Given the description of an element on the screen output the (x, y) to click on. 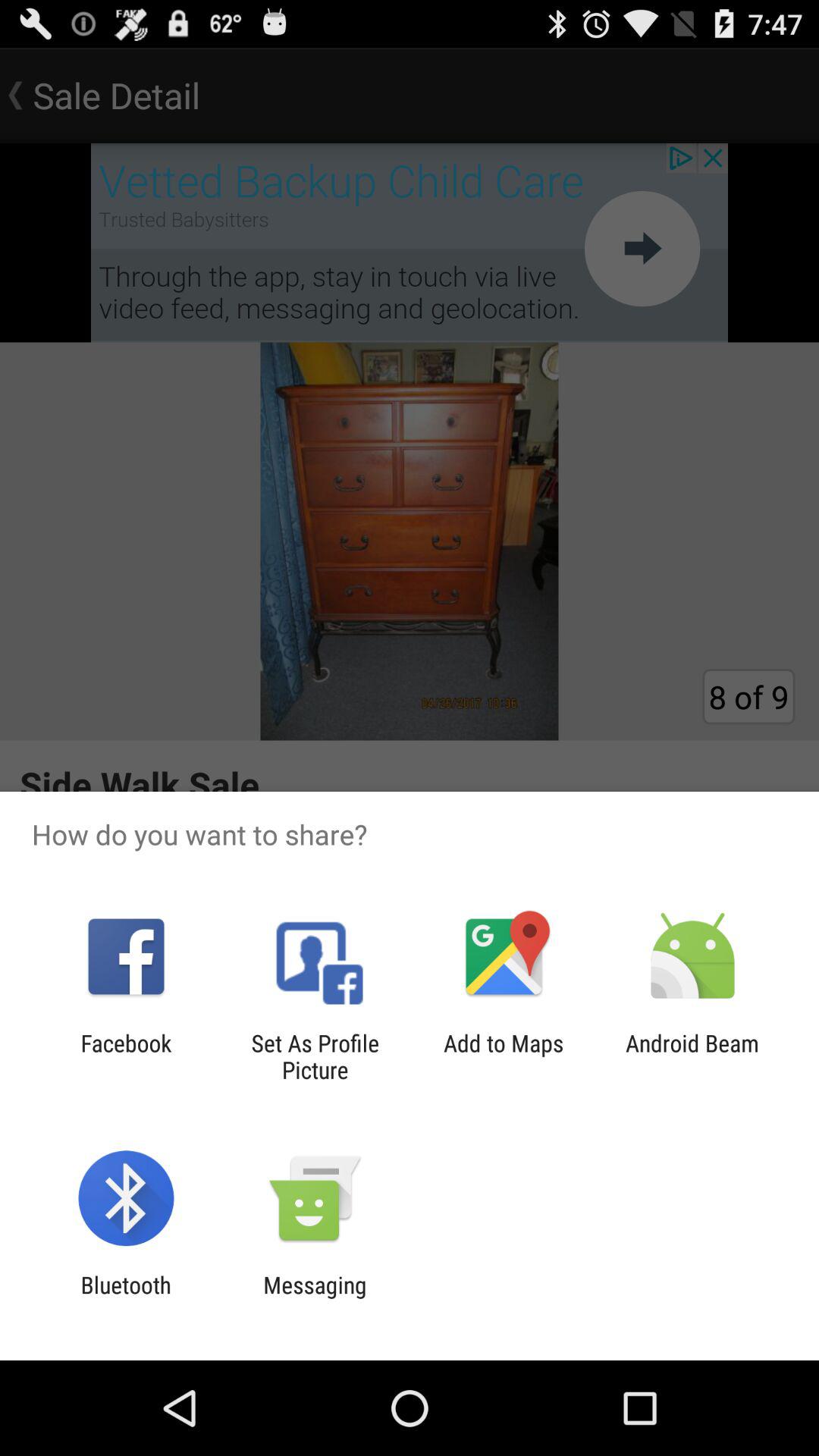
choose item to the left of set as profile icon (125, 1056)
